Given the description of an element on the screen output the (x, y) to click on. 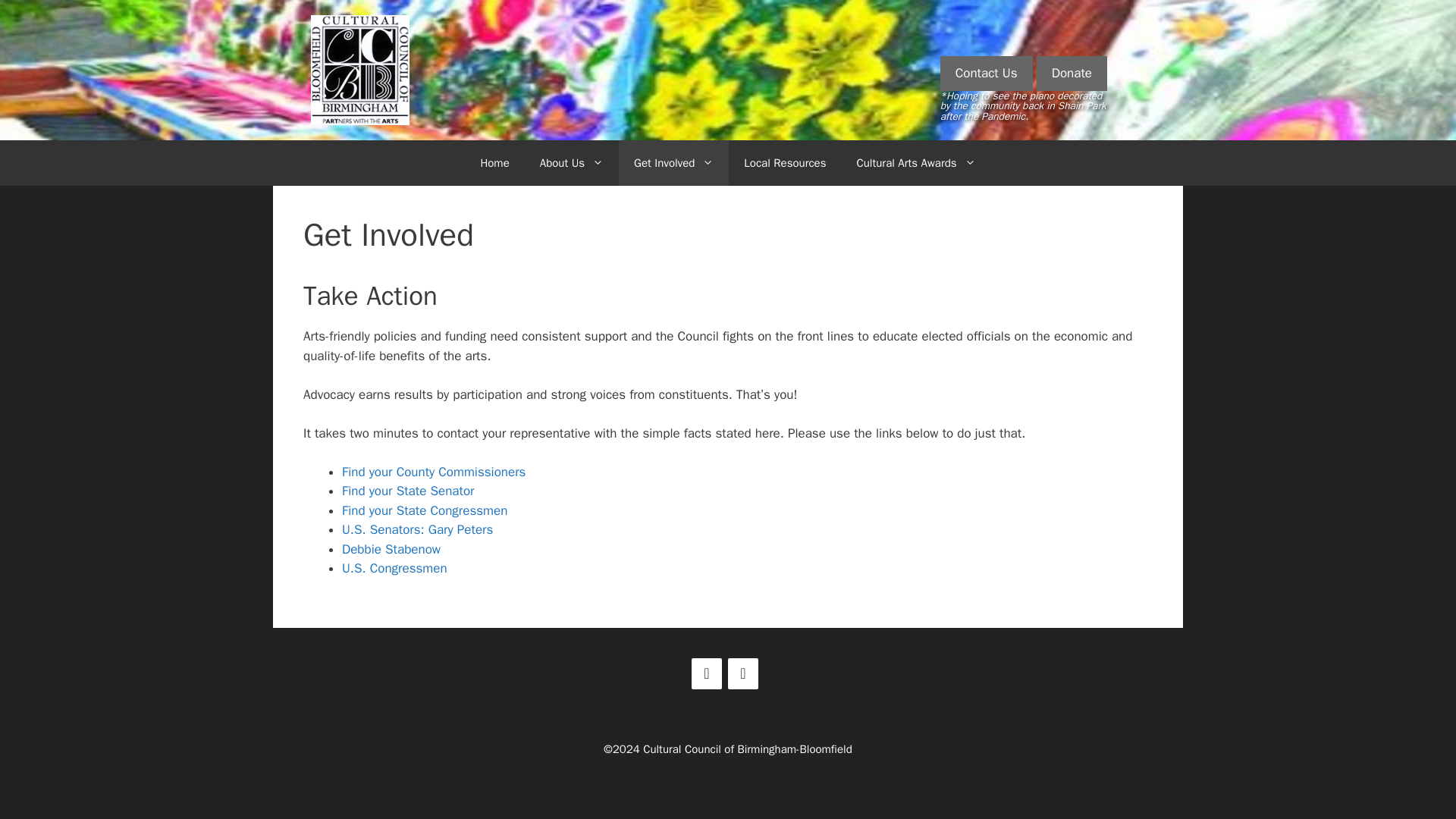
Search (35, 18)
Home (494, 162)
Cultural Arts Awards (916, 162)
Search for: (1131, 72)
U.S. Senators: Gary Peters (417, 529)
Find your State Congressmen (424, 510)
Find your State Senator (408, 490)
Instagram (743, 673)
Local Resources (785, 162)
Get Involved (673, 162)
Debbie Stabenow (391, 549)
Contact Us (986, 73)
U.S. Congressmen (394, 568)
Find your County Commissioners (433, 471)
About Us (571, 162)
